Given the description of an element on the screen output the (x, y) to click on. 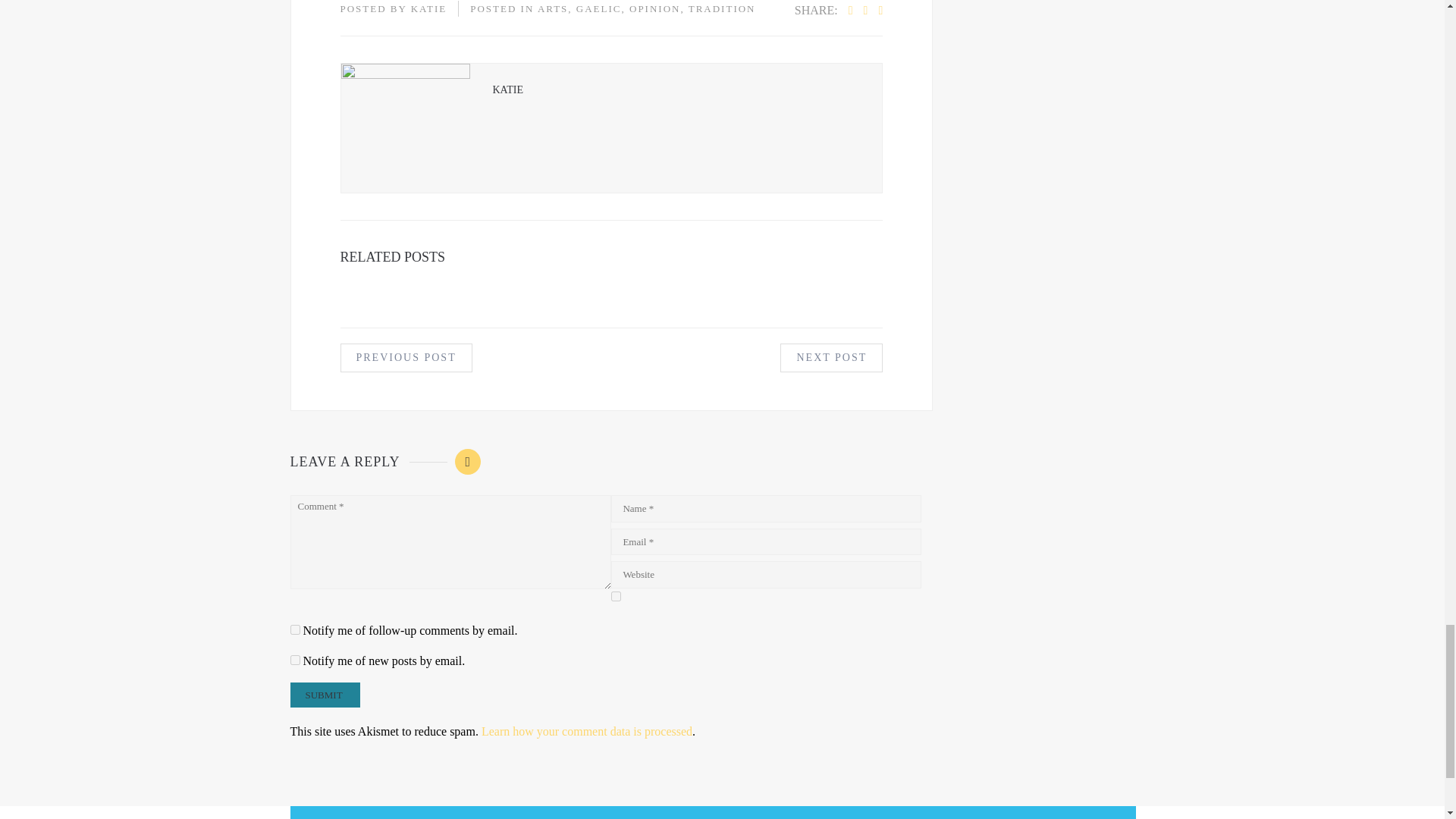
yes (616, 596)
subscribe (294, 629)
subscribe (294, 660)
KATIE (428, 8)
ARTS (552, 8)
GAELIC (598, 8)
TRADITION (721, 8)
Submit  (324, 694)
OPINION (653, 8)
